Given the description of an element on the screen output the (x, y) to click on. 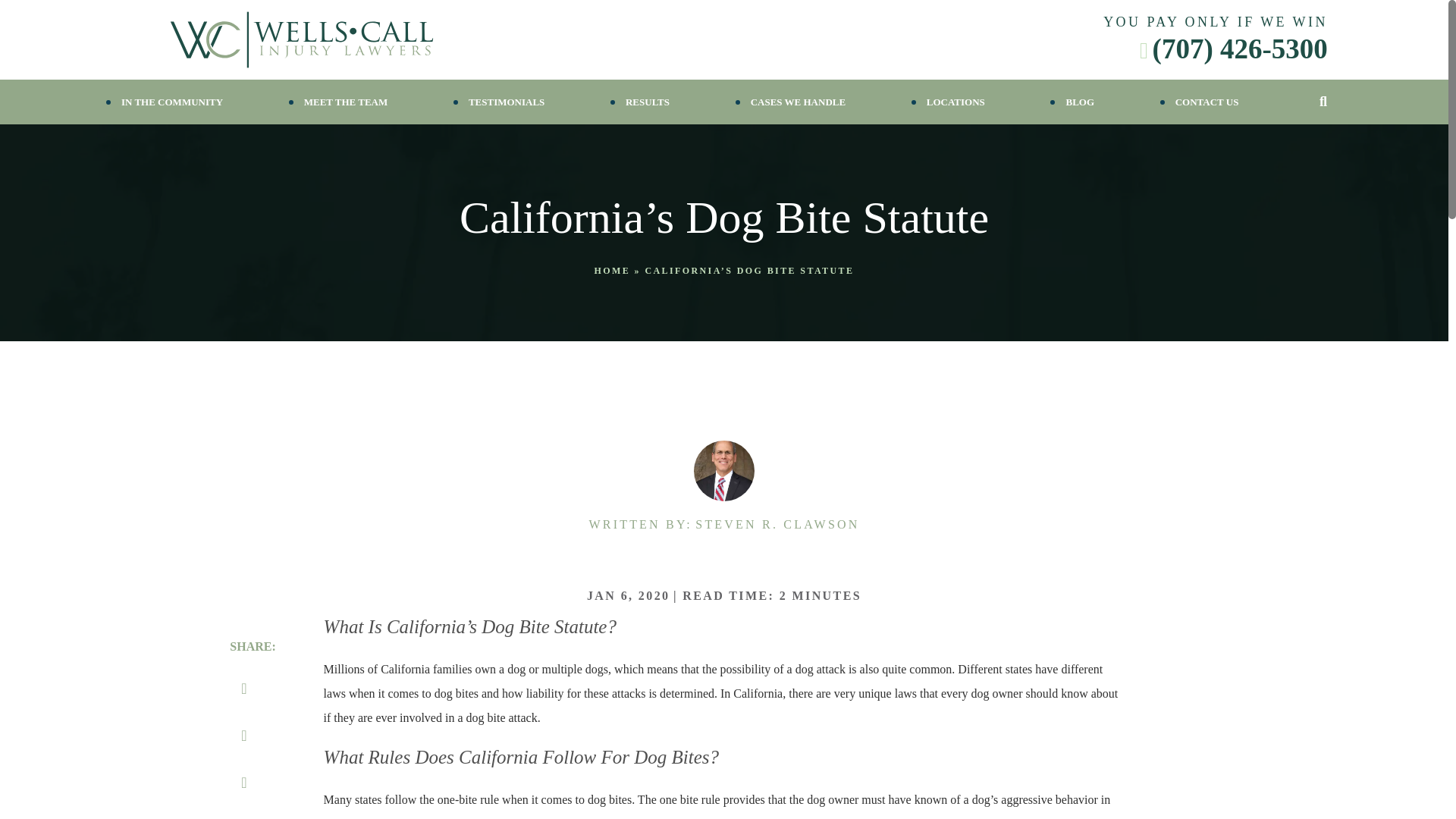
CASES WE HANDLE (798, 101)
MEET THE TEAM (346, 101)
LOCATIONS (955, 101)
TESTIMONIALS (506, 101)
IN THE COMMUNITY (171, 101)
RESULTS (647, 101)
